Given the description of an element on the screen output the (x, y) to click on. 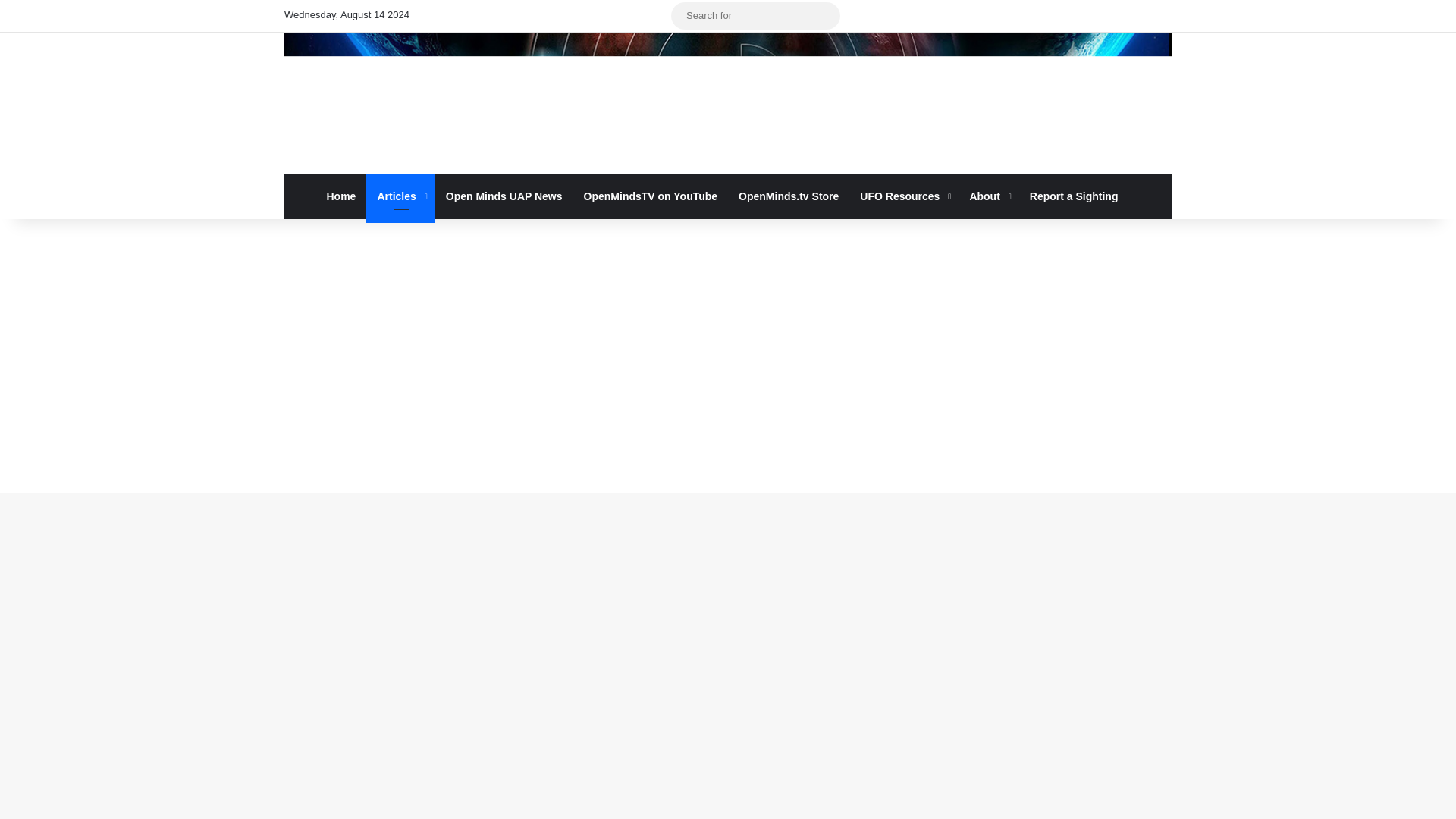
OpenMindsTV on YouTube (651, 196)
About (987, 196)
Open Minds UAP News (504, 196)
Openminds.tv (727, 102)
Search for (824, 15)
OpenMinds.tv Store (788, 196)
UFO Resources (903, 196)
Articles (399, 196)
Home (340, 196)
Search for (755, 15)
